Given the description of an element on the screen output the (x, y) to click on. 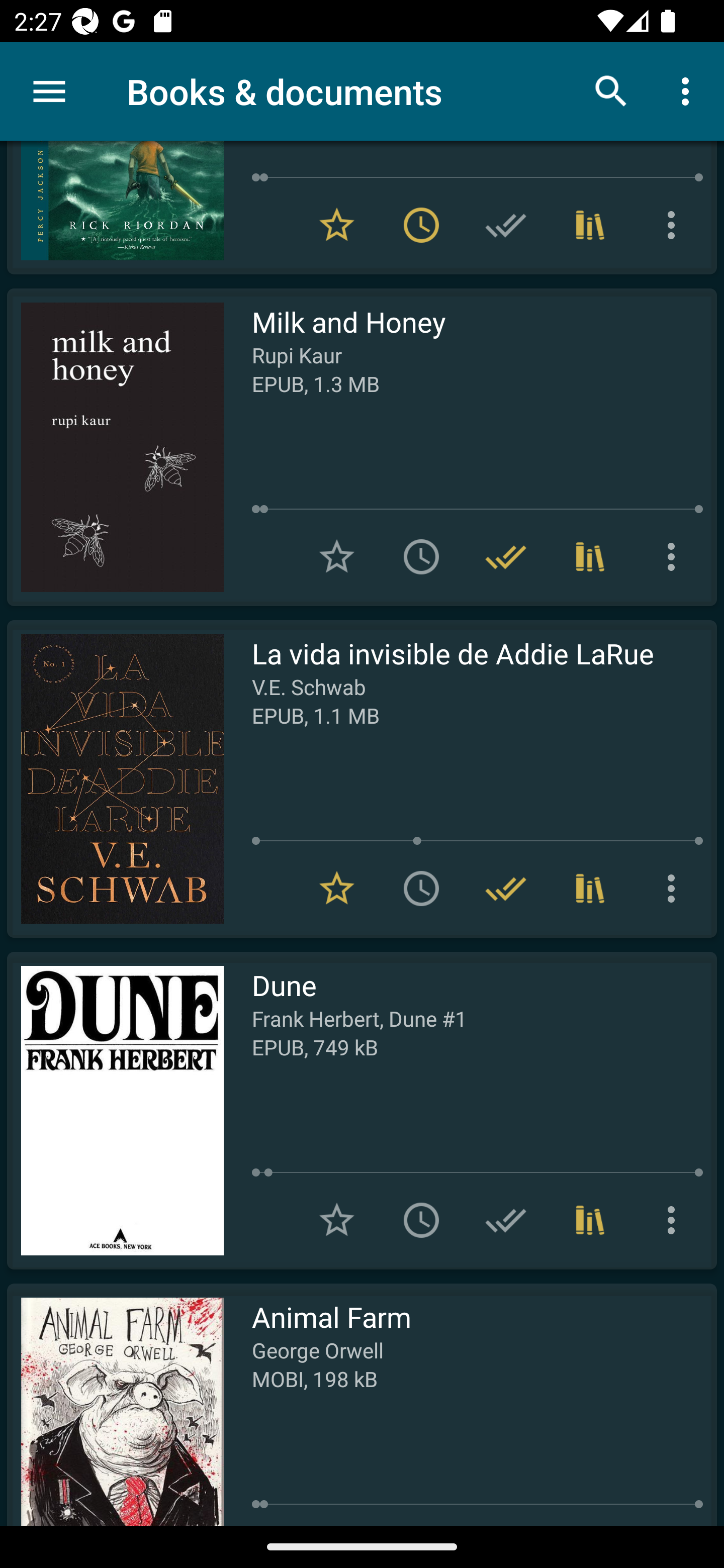
Menu (49, 91)
Search books & documents (611, 90)
More options (688, 90)
Remove from Favorites (336, 225)
Remove from To read (421, 225)
Add to Have read (505, 225)
Collections (1) (590, 225)
More options (674, 225)
Read Milk and Honey (115, 447)
Add to Favorites (336, 556)
Add to To read (421, 556)
Remove from Have read (505, 556)
Collections (4) (590, 556)
More options (674, 556)
Read La vida invisible de Addie LaRue (115, 778)
Remove from Favorites (336, 888)
Add to To read (421, 888)
Remove from Have read (505, 888)
Collections (1) (590, 888)
More options (674, 888)
Read Dune (115, 1110)
Add to Favorites (336, 1219)
Add to To read (421, 1219)
Add to Have read (505, 1219)
Collections (1) (590, 1219)
More options (674, 1219)
Read Animal Farm (115, 1404)
